Given the description of an element on the screen output the (x, y) to click on. 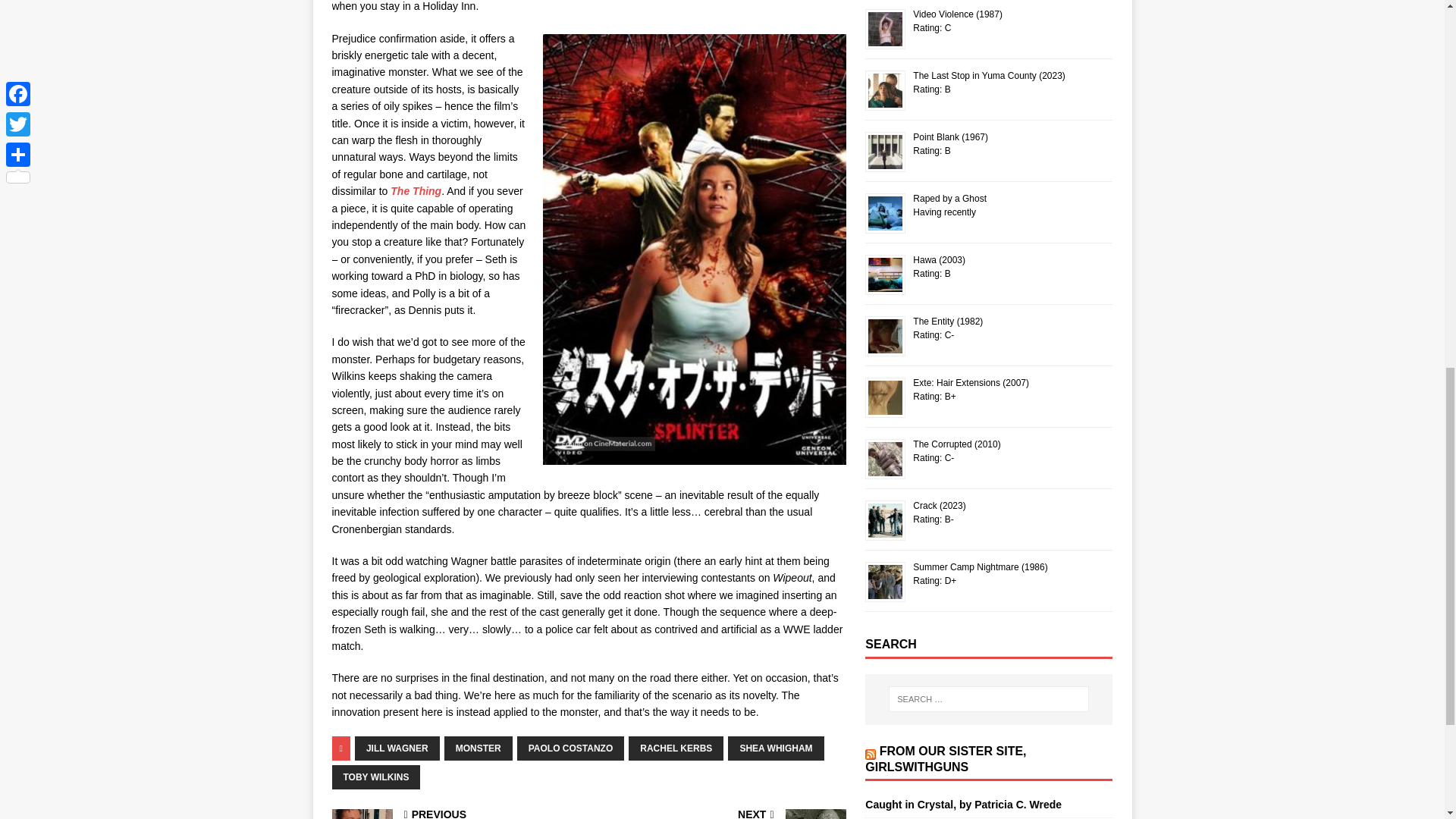
The Thing (415, 191)
MONSTER (478, 748)
SHEA WHIGHAM (776, 748)
RACHEL KERBS (675, 748)
PAOLO COSTANZO (570, 748)
TOBY WILKINS (375, 776)
JILL WAGNER (397, 748)
